Given the description of an element on the screen output the (x, y) to click on. 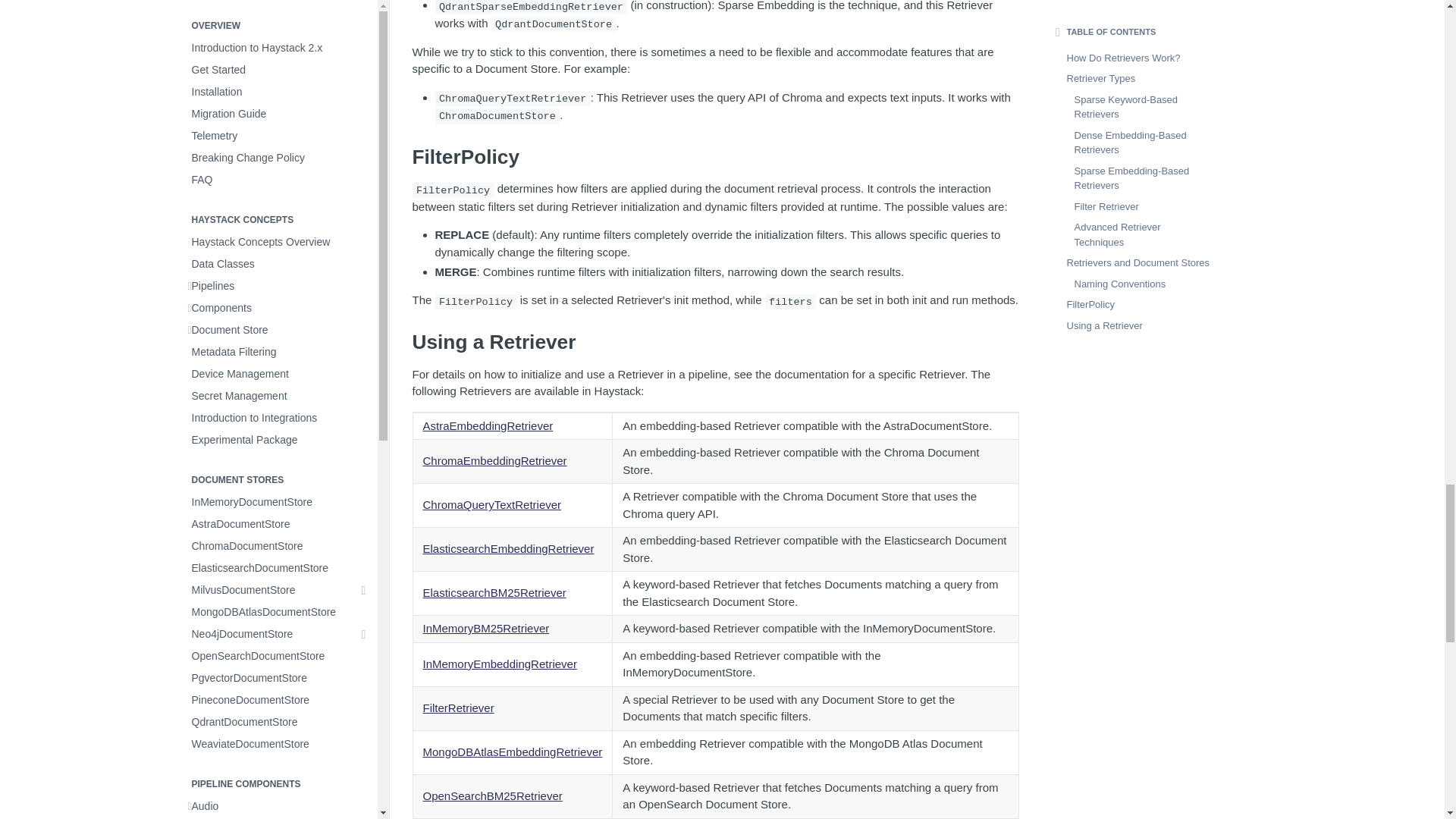
FilterPolicy (715, 156)
Using a Retriever (715, 342)
